Given the description of an element on the screen output the (x, y) to click on. 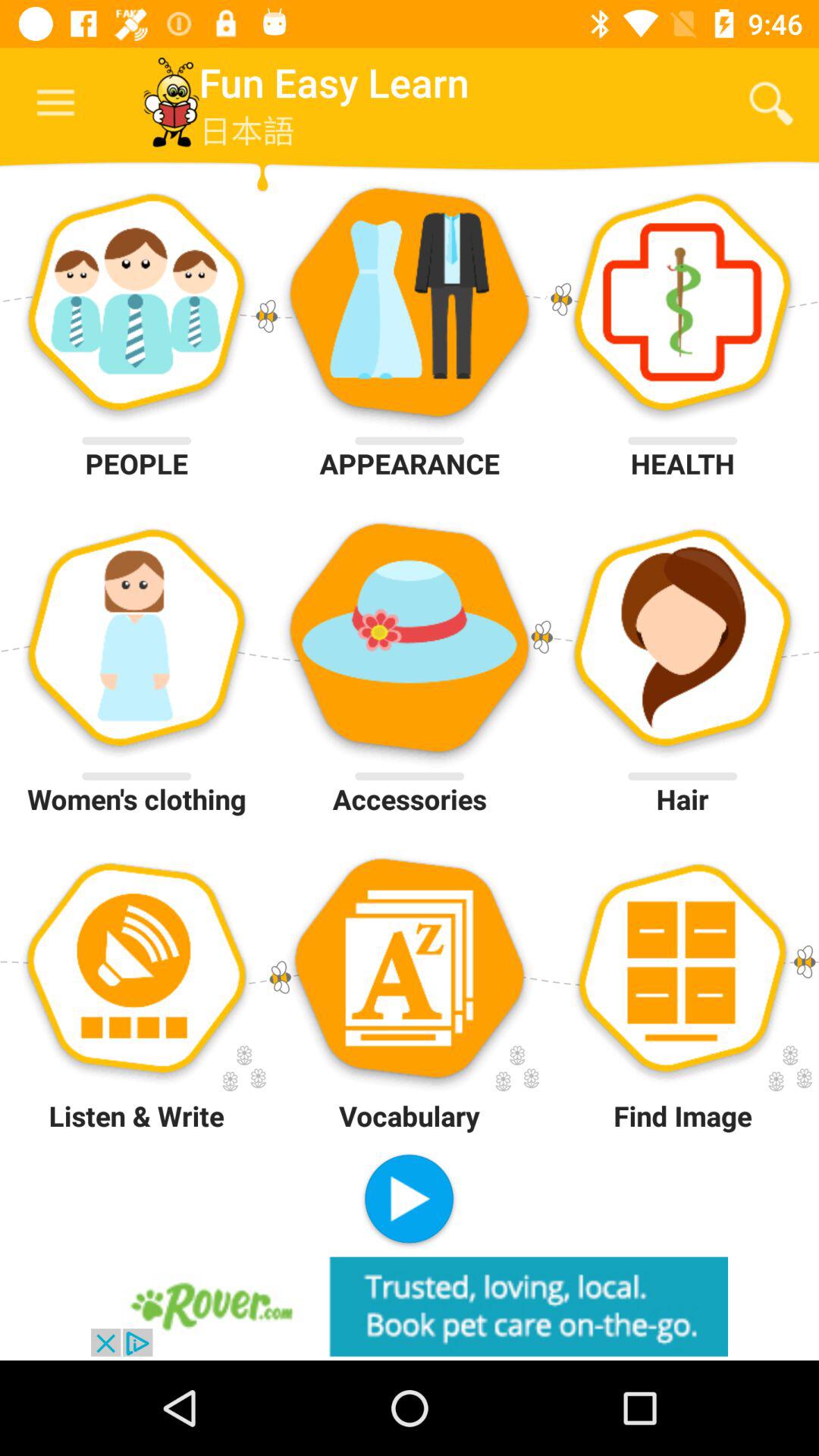
visit advertiser (409, 1306)
